Given the description of an element on the screen output the (x, y) to click on. 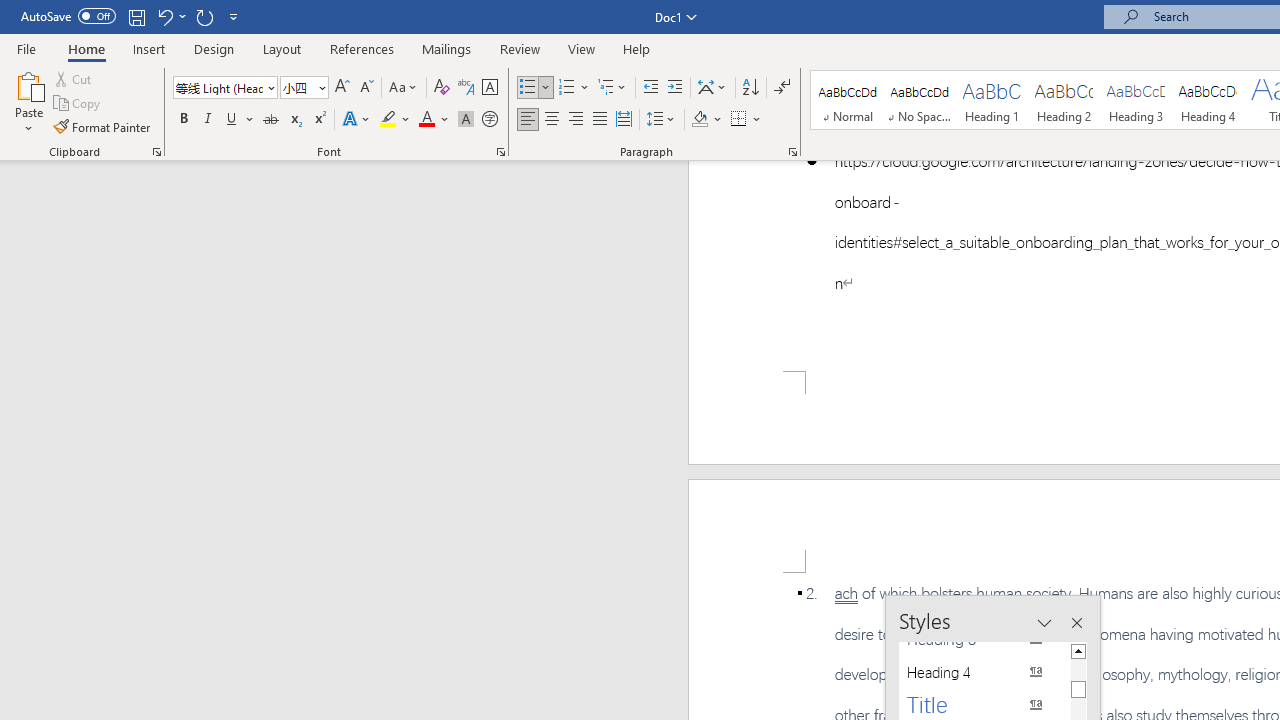
Enclose Characters... (489, 119)
Strikethrough (270, 119)
Text Highlight Color (395, 119)
Office Clipboard... (156, 151)
Undo Bullet Default (170, 15)
Heading 2 (1063, 100)
Show/Hide Editing Marks (781, 87)
Phonetic Guide... (465, 87)
Distributed (623, 119)
Superscript (319, 119)
Undo Bullet Default (164, 15)
